Given the description of an element on the screen output the (x, y) to click on. 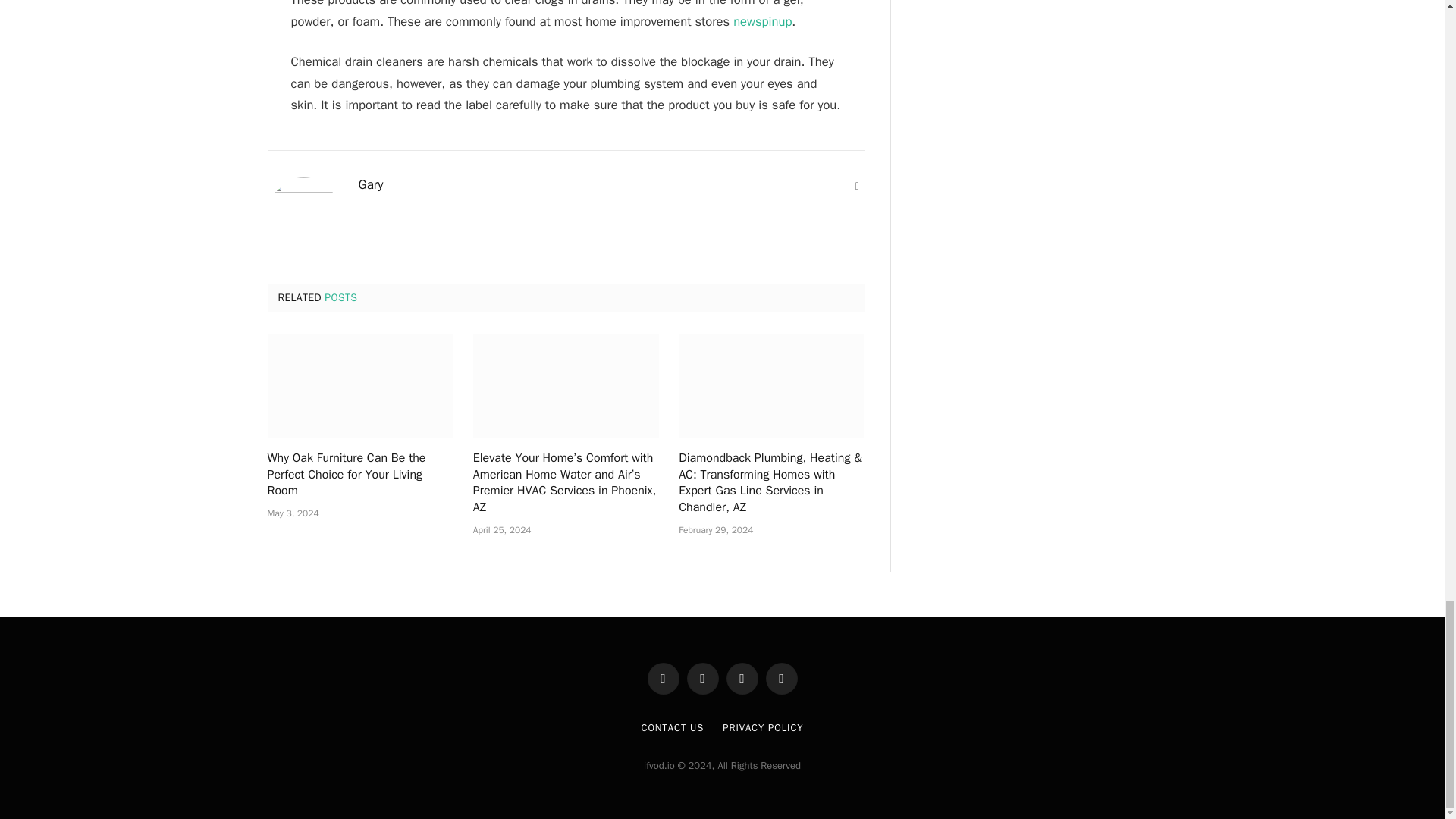
Website (856, 186)
Website (856, 186)
newspinup (762, 21)
Gary (370, 184)
Posts by Gary (370, 184)
